Given the description of an element on the screen output the (x, y) to click on. 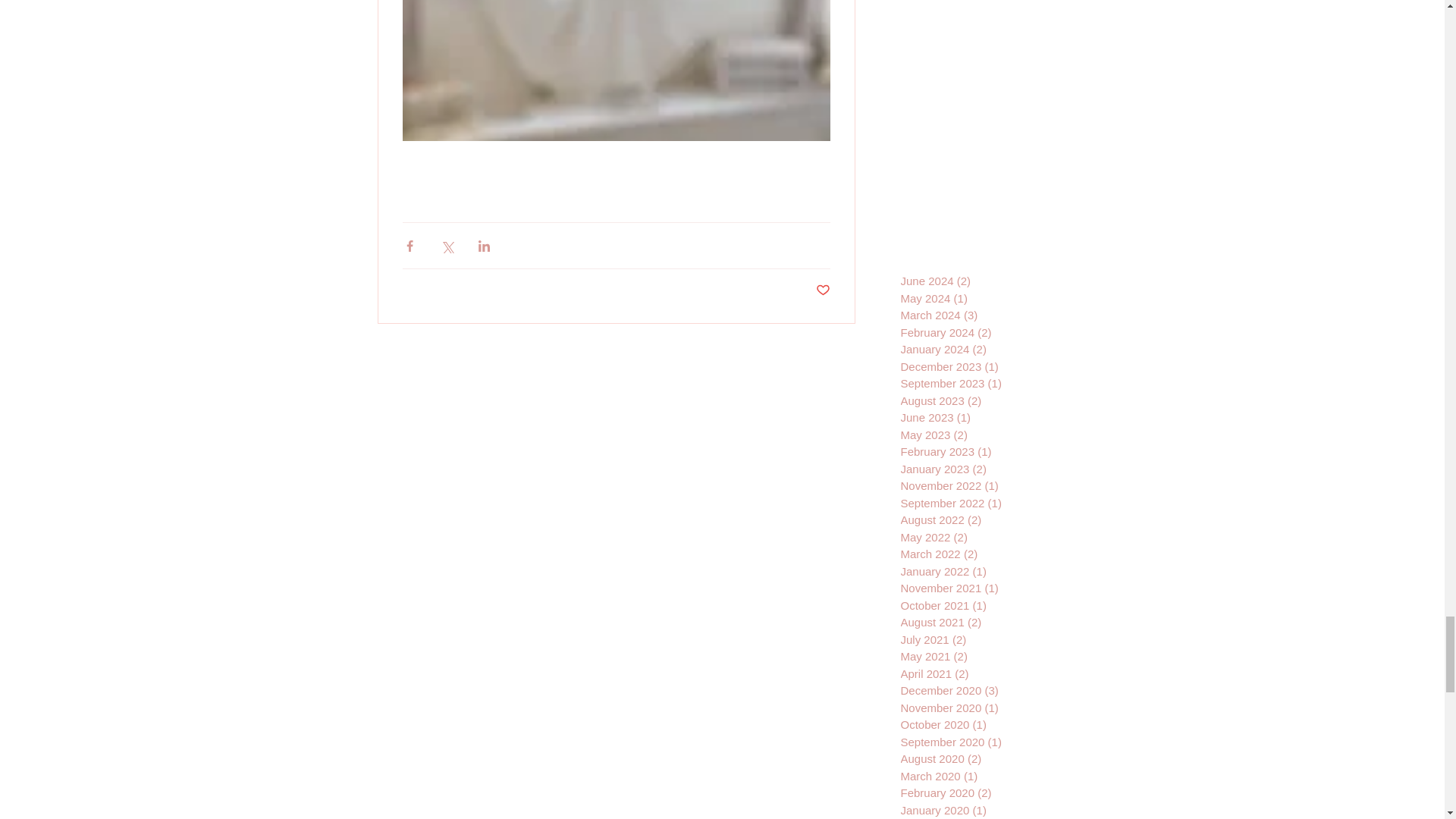
Post not marked as liked (822, 290)
